Given the description of an element on the screen output the (x, y) to click on. 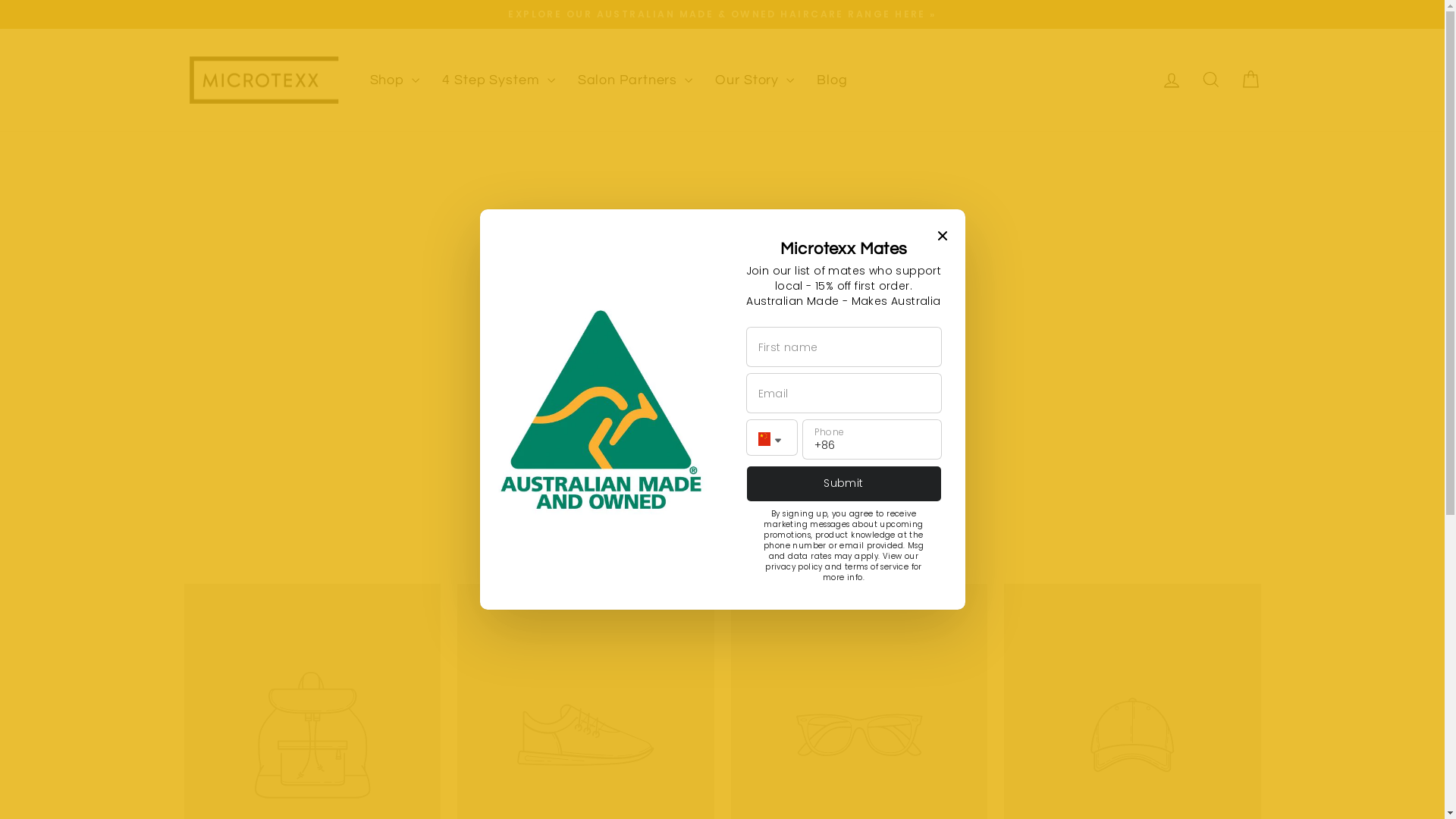
VIEW ALL Element type: text (721, 532)
Blog Element type: text (832, 79)
account
Log in Element type: text (1170, 79)
Cart Element type: text (1249, 79)
icon-search
Search Element type: text (1210, 79)
Continue shopping Element type: text (722, 320)
